Given the description of an element on the screen output the (x, y) to click on. 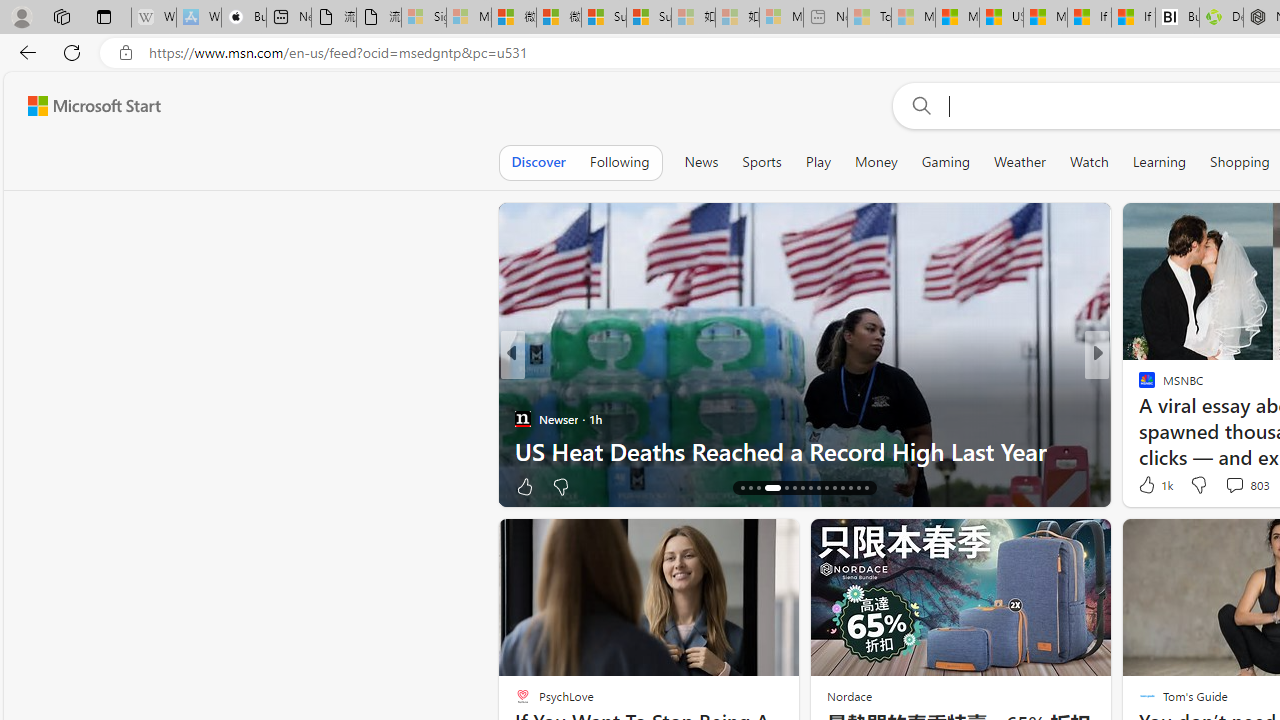
AutomationID: tab-28 (850, 487)
View comments 15 Comment (1244, 486)
PCMag (1138, 386)
View comments 41 Comment (1229, 485)
Microsoft Services Agreement - Sleeping (468, 17)
